Given the description of an element on the screen output the (x, y) to click on. 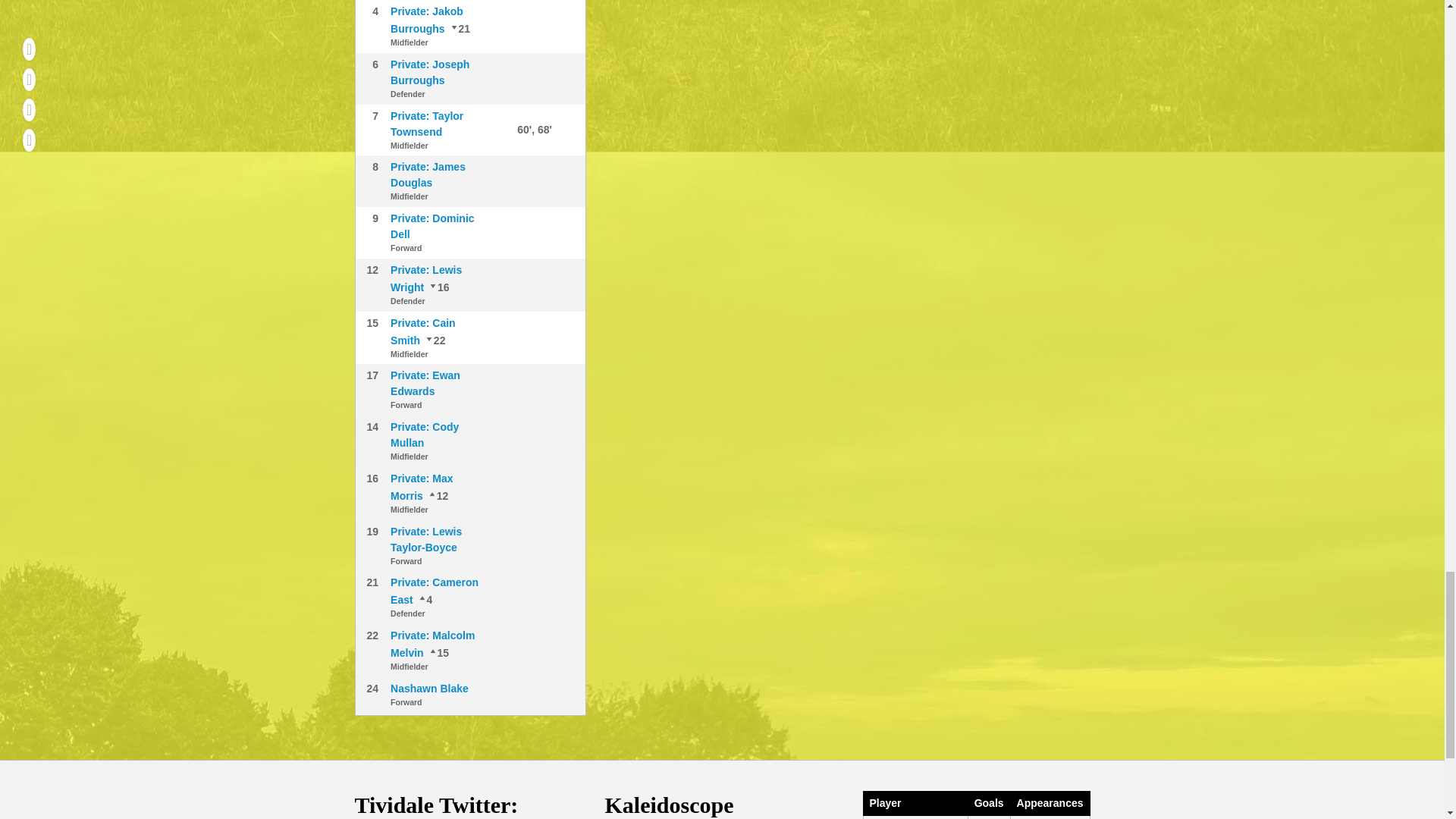
Private: Max Morris (437, 287)
Private: Taylor Townsend (426, 122)
Private: Malcolm Melvin (434, 339)
Private: Dominic Dell (432, 226)
Goal (506, 129)
Private: Lewis Wright (437, 495)
Private: Jakob Burroughs (426, 19)
Private: Joseph Burroughs (429, 72)
